Given the description of an element on the screen output the (x, y) to click on. 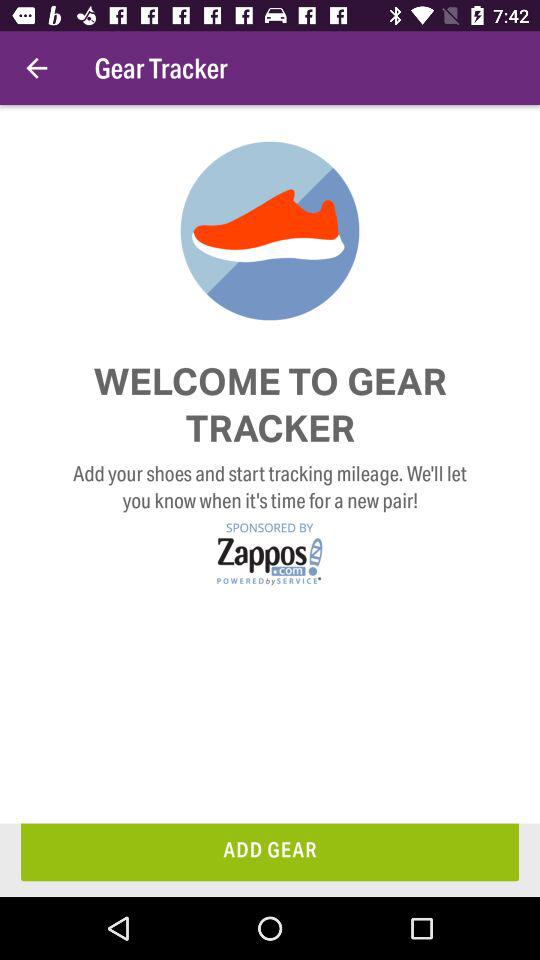
turn off the icon next to gear tracker item (36, 68)
